Given the description of an element on the screen output the (x, y) to click on. 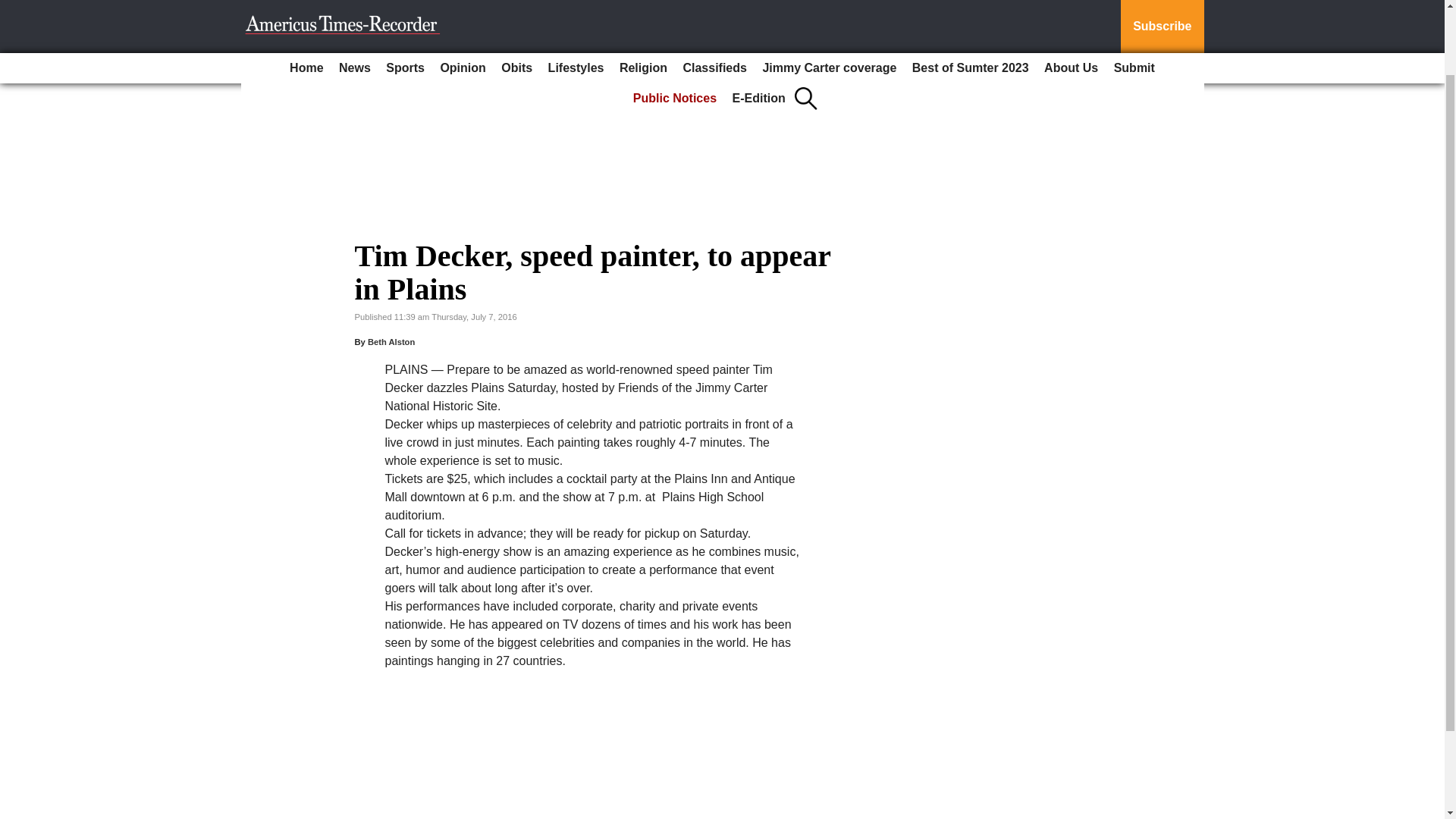
Obits (516, 2)
Best of Sumter 2023 (970, 2)
Beth Alston (391, 341)
Public Notices (674, 19)
Religion (642, 2)
News (355, 2)
Opinion (462, 2)
Lifestyles (575, 2)
About Us (1070, 2)
Jimmy Carter coverage (828, 2)
